Given the description of an element on the screen output the (x, y) to click on. 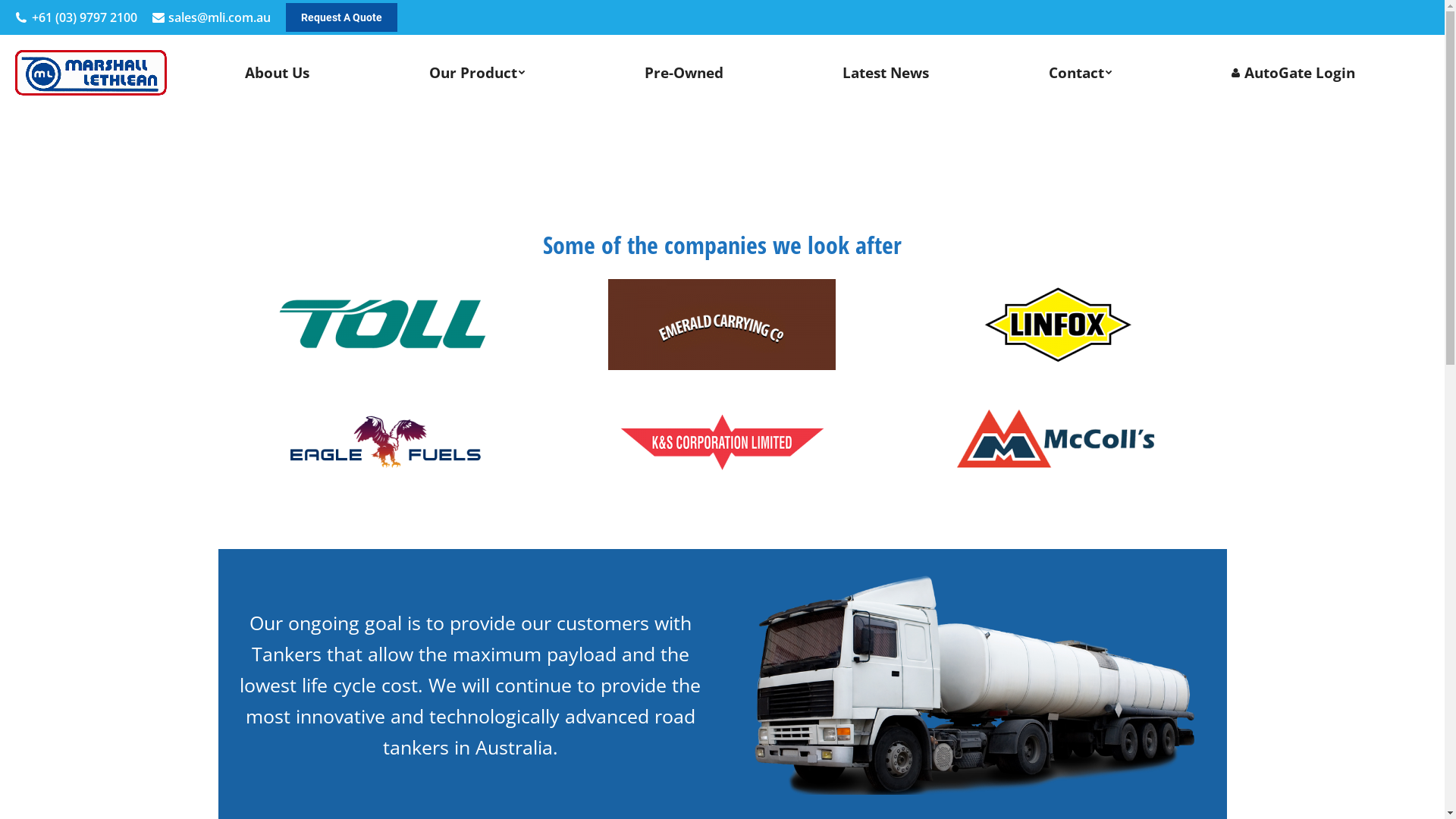
Request A Quote Element type: text (341, 17)
Latest News Element type: text (885, 72)
AutoGate Login Element type: text (1292, 72)
Pre-Owned Element type: text (683, 72)
Our Product Element type: text (477, 72)
About Us Element type: text (277, 72)
Go! Element type: text (31, 16)
Contact Element type: text (1080, 72)
